Given the description of an element on the screen output the (x, y) to click on. 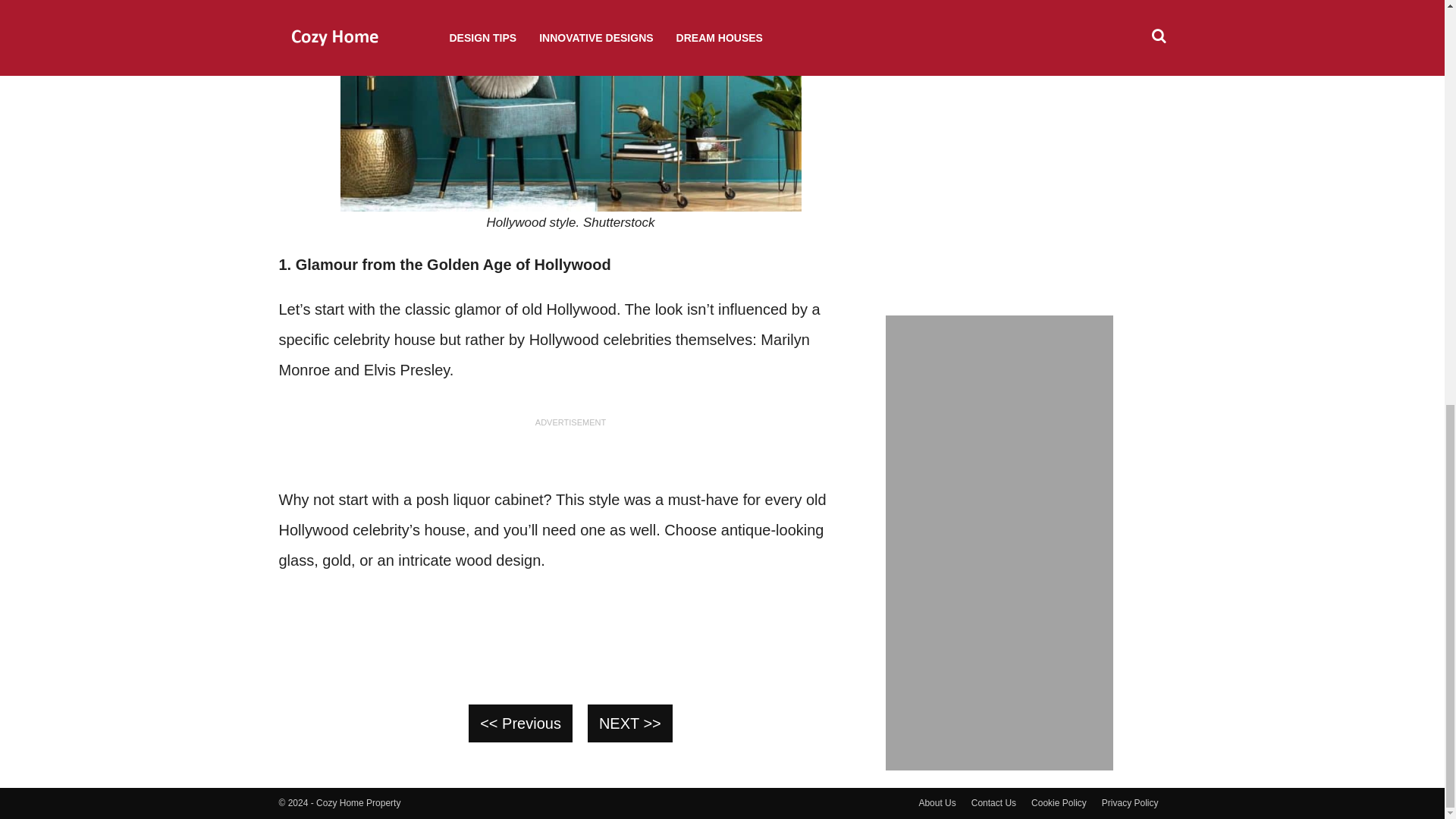
Contact Us (993, 802)
Cookie Policy (1058, 802)
Privacy Policy (1130, 802)
About Us (936, 802)
